Given the description of an element on the screen output the (x, y) to click on. 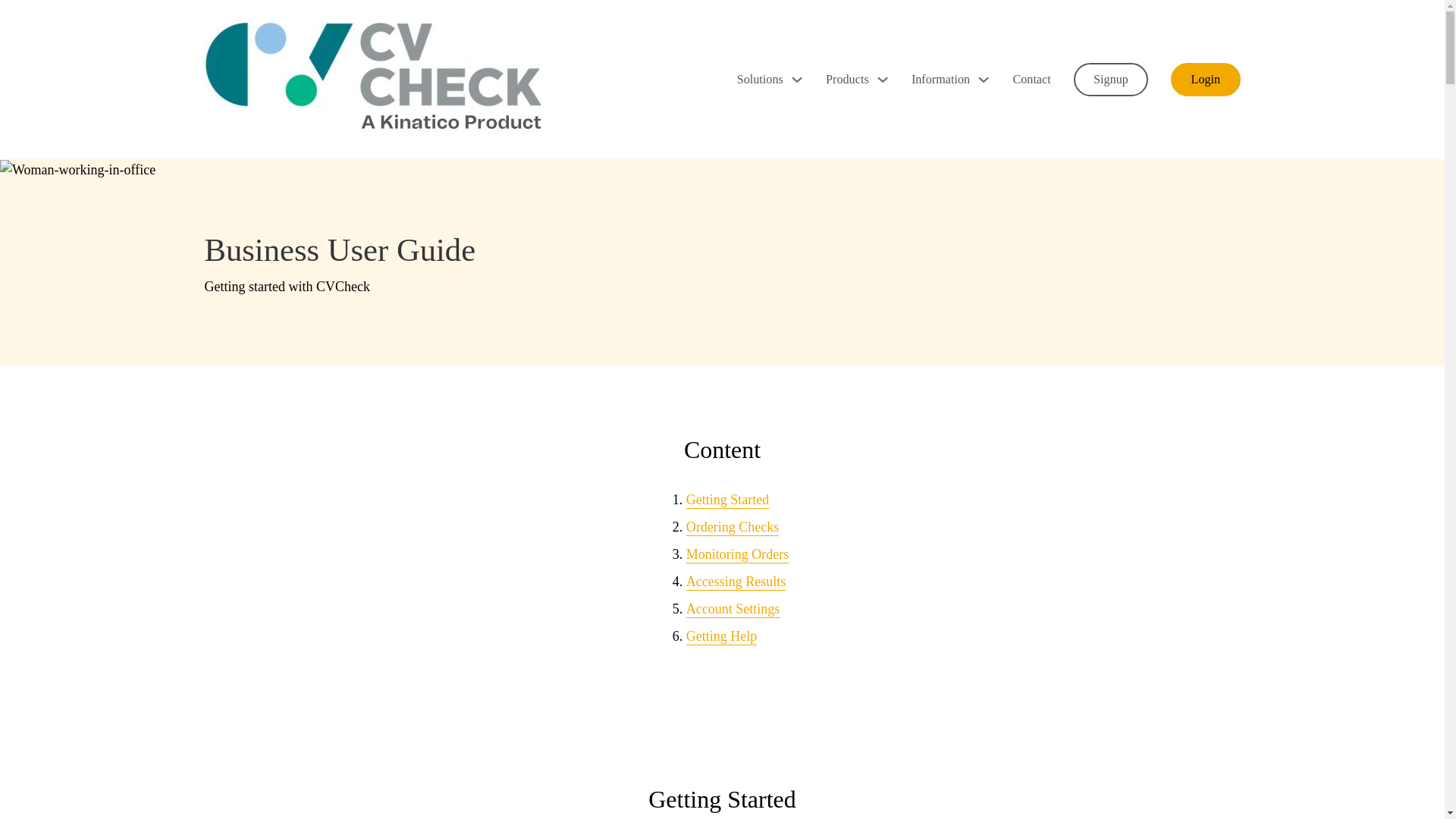
Ordering Checks (731, 526)
Signup (1111, 79)
Account Settings (732, 608)
Getting Started (726, 499)
Monitoring Orders (737, 554)
Login (1205, 79)
Accessing Results (735, 581)
Contact (1030, 79)
Getting Help (721, 635)
